Given the description of an element on the screen output the (x, y) to click on. 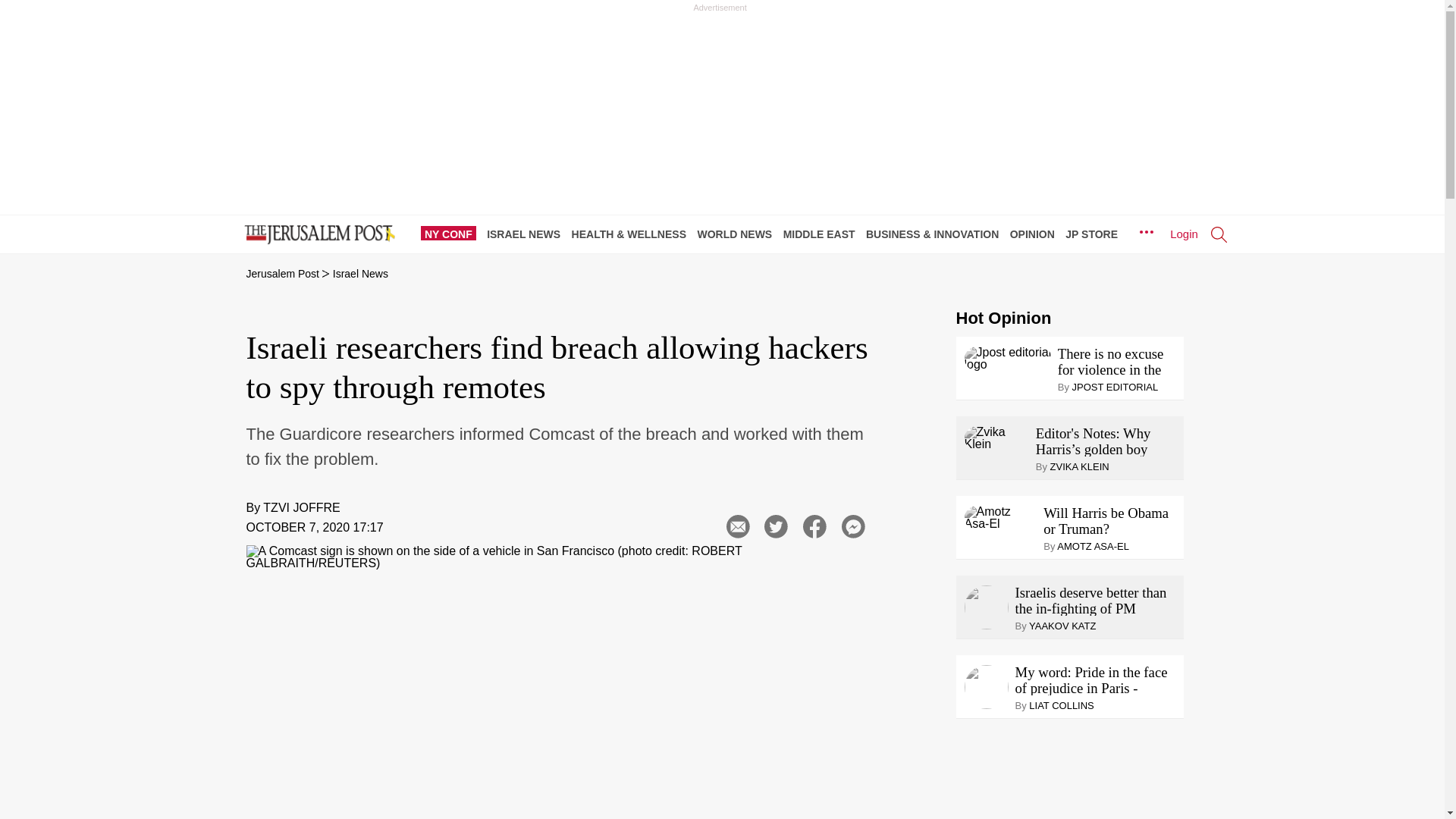
JP STORE (1095, 234)
TZVI JOFFRE (301, 507)
Israel News (360, 273)
MIDDLE EAST (823, 234)
Hot Opinion (1003, 317)
ZVIKA KLEIN (1079, 466)
ISRAEL NEWS (526, 234)
